Given the description of an element on the screen output the (x, y) to click on. 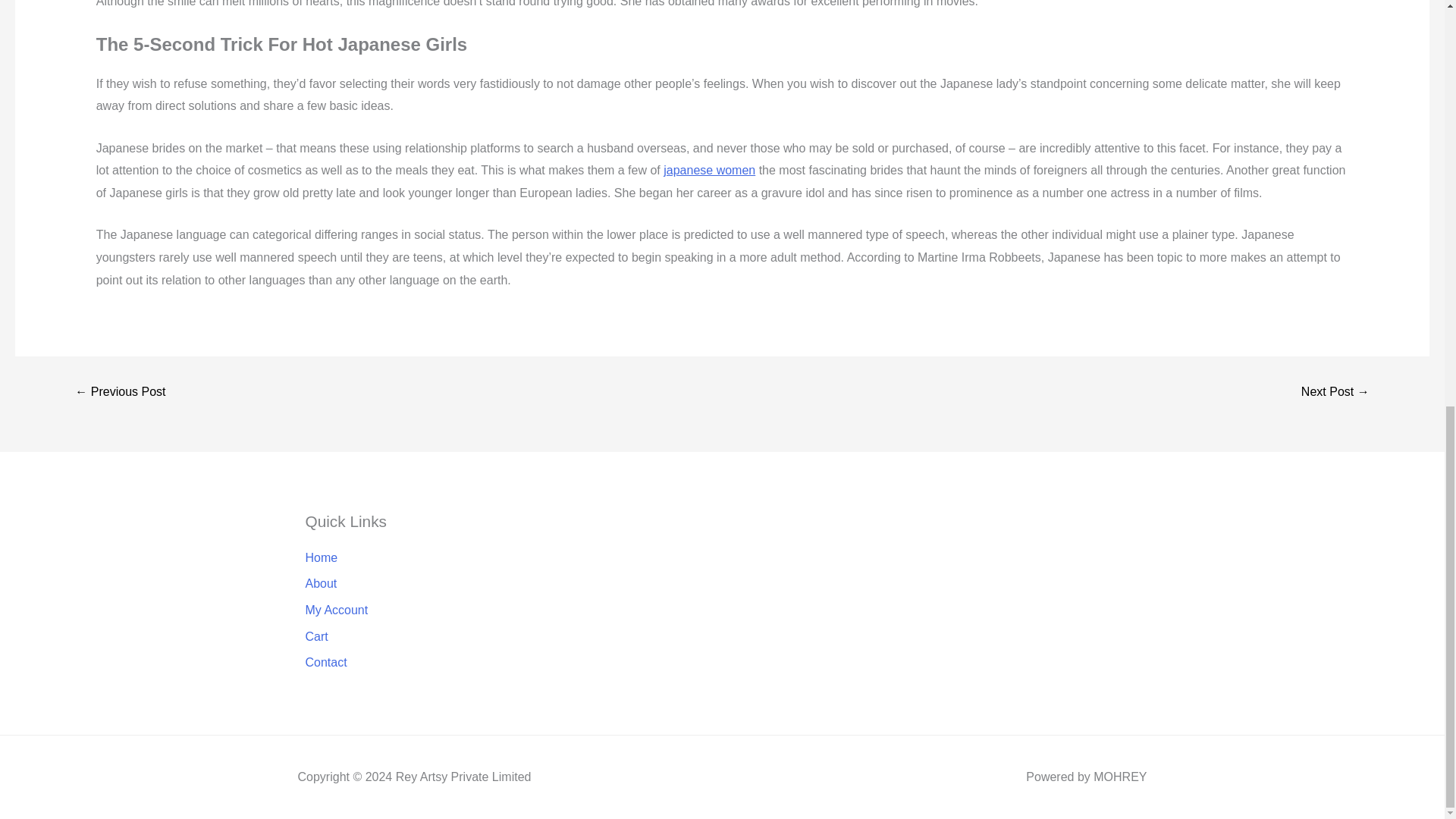
About (397, 583)
Gambling 5 reel slots free play enterprise Put Https (1334, 391)
Home (397, 558)
japanese women (709, 169)
